Given the description of an element on the screen output the (x, y) to click on. 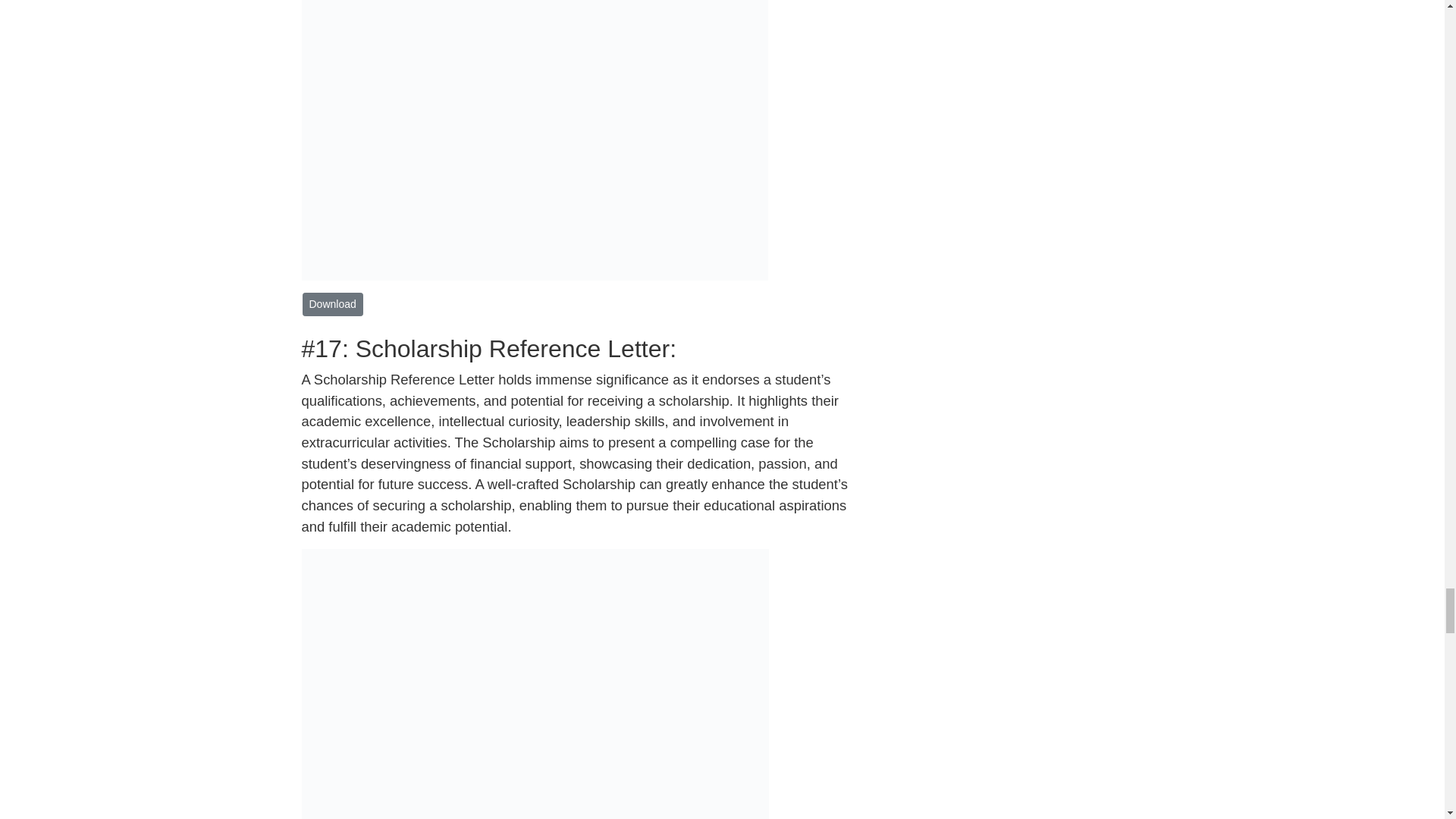
Download (331, 304)
